Given the description of an element on the screen output the (x, y) to click on. 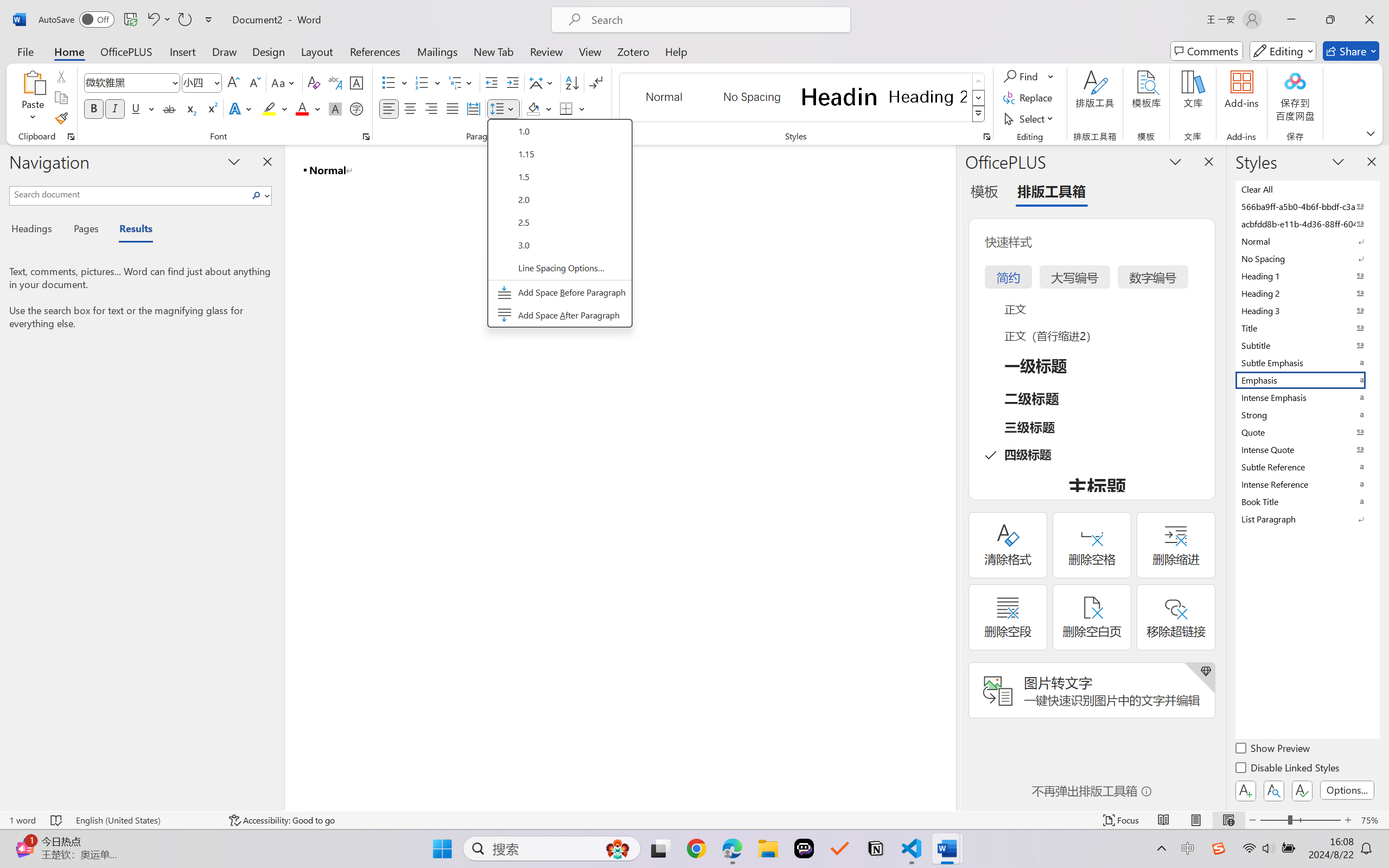
Office Clipboard... (70, 136)
File Tab (24, 51)
Read Mode (1163, 819)
Search (259, 195)
List Paragraph (1306, 518)
Center (409, 108)
Comments (1206, 50)
Asian Layout (542, 82)
Zoom Out (1273, 819)
Accessibility Checker Accessibility: Good to go (282, 819)
Layout (316, 51)
Close (1369, 19)
